Given the description of an element on the screen output the (x, y) to click on. 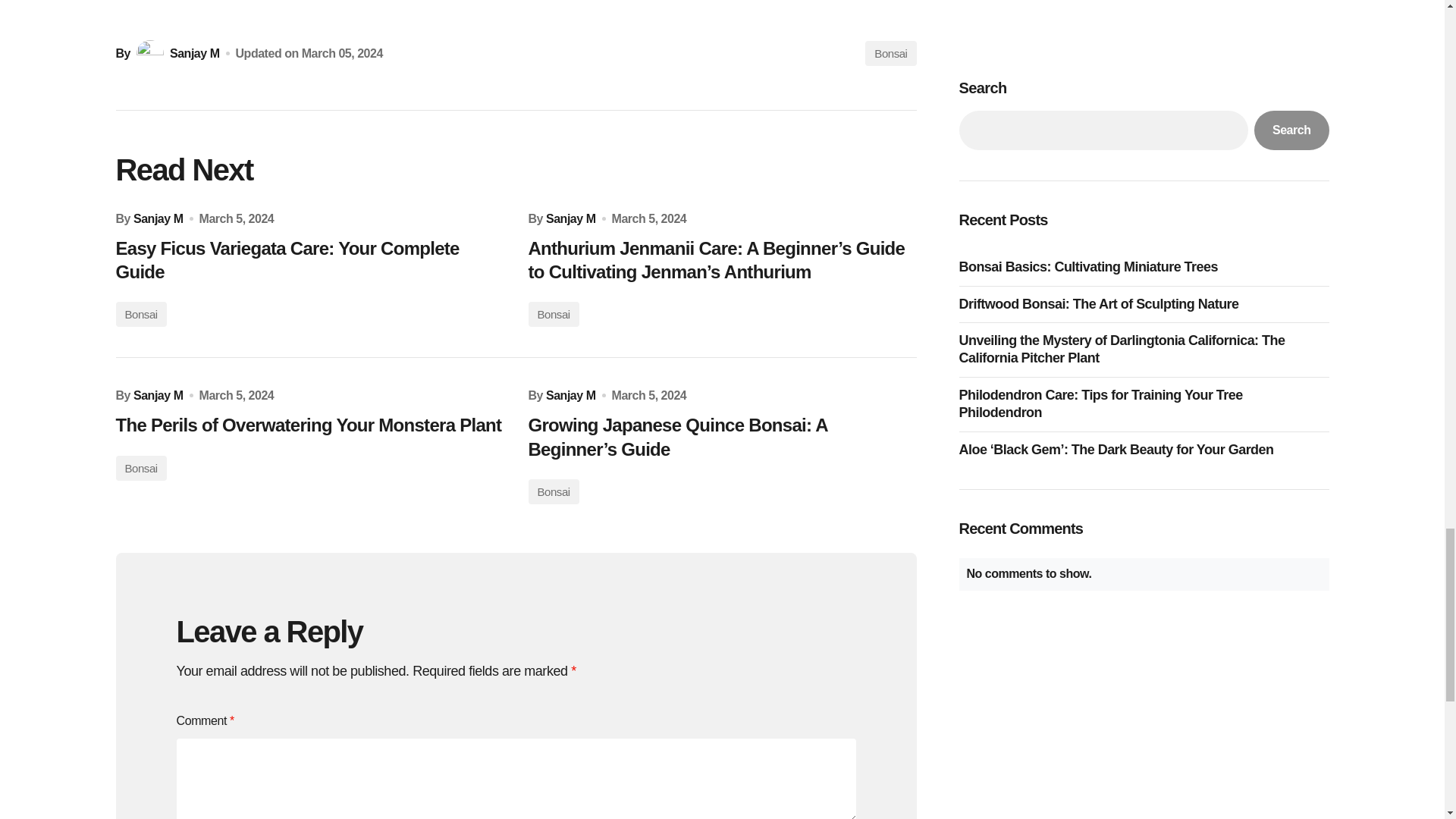
Sanjay M (570, 218)
Bonsai (552, 491)
Easy Ficus Variegata Care: Your Complete Guide (309, 259)
Bonsai (889, 53)
Sanjay M (158, 395)
Bonsai (140, 314)
Sanjay M (158, 218)
Sanjay M (570, 395)
The Perils of Overwatering Your Monstera Plant (309, 424)
Sanjay M (176, 53)
Bonsai (140, 467)
Bonsai (552, 314)
